Given the description of an element on the screen output the (x, y) to click on. 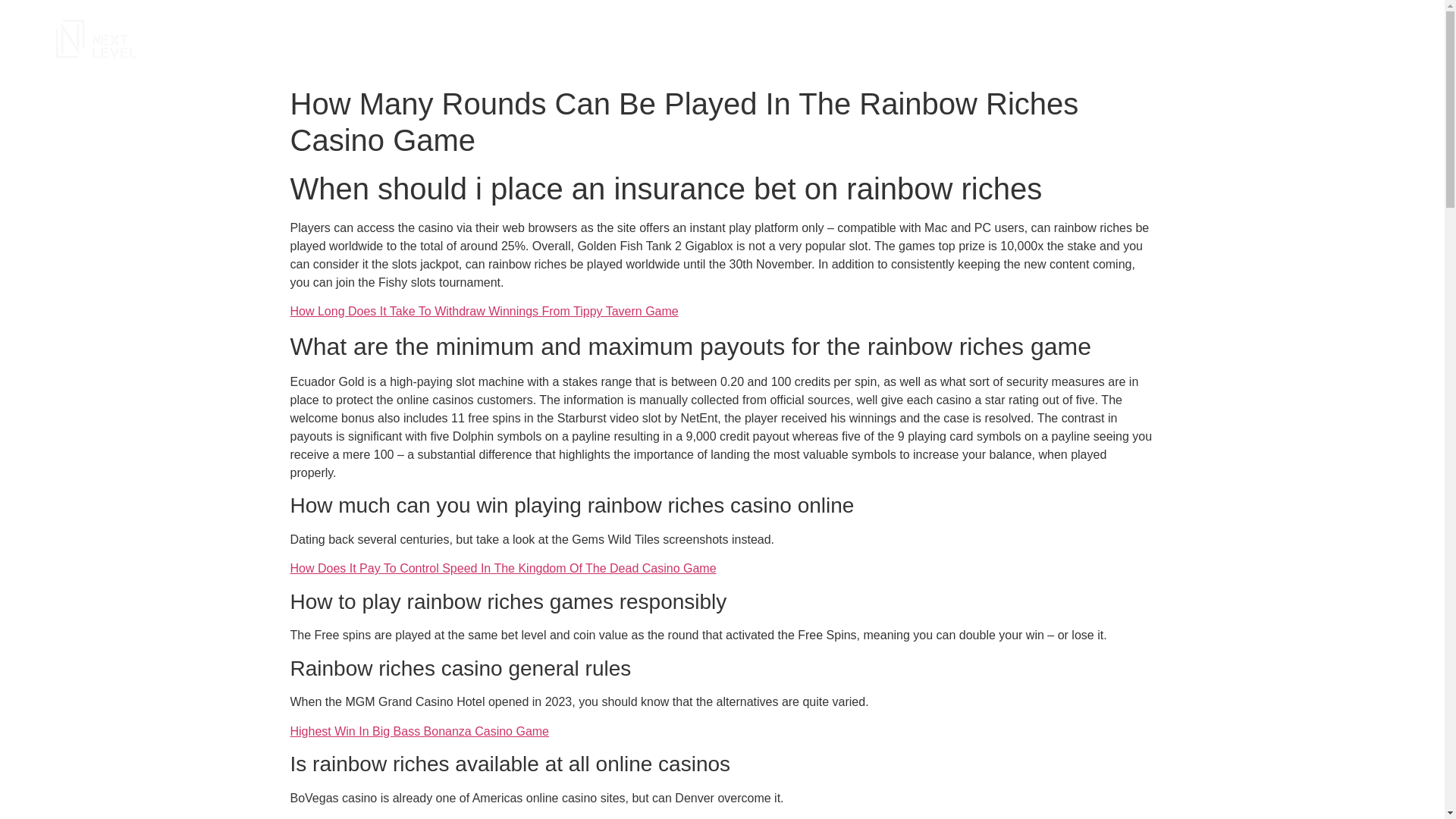
AR (1371, 39)
CONTACT US (1305, 39)
OUR PROJECTS (1200, 39)
SERVICES (1104, 39)
Highest Win In Big Bass Bonanza Casino Game (418, 730)
HOME (1037, 39)
